Given the description of an element on the screen output the (x, y) to click on. 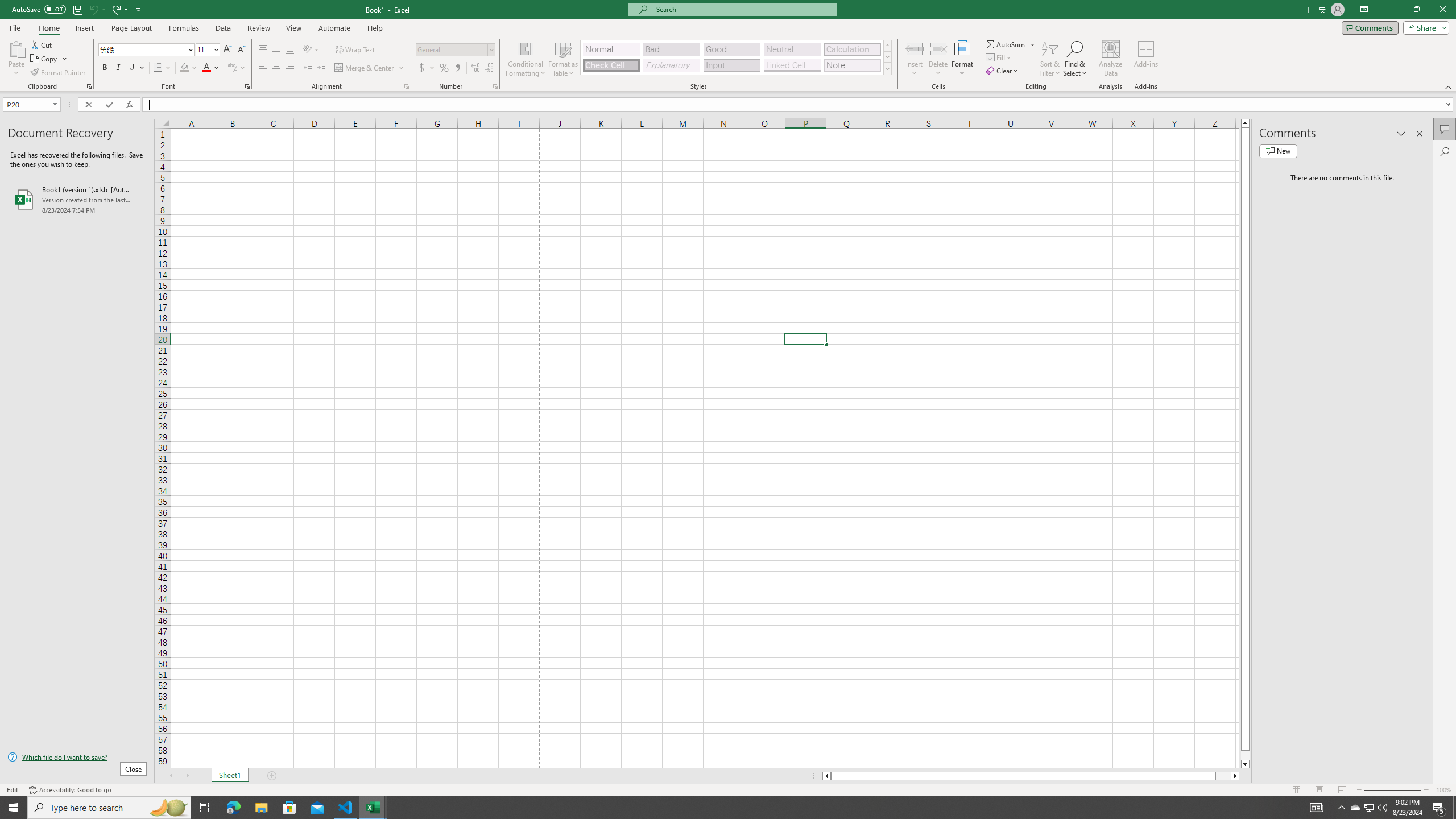
Merge & Center (365, 67)
Row up (887, 45)
Microsoft search (742, 9)
Borders (162, 67)
Task Pane Options (1400, 133)
Collapse the Ribbon (1448, 86)
Search (1444, 151)
Column left (826, 775)
Font Size (204, 49)
Row Down (887, 56)
Decrease Indent (307, 67)
Wrap Text (355, 49)
